Given the description of an element on the screen output the (x, y) to click on. 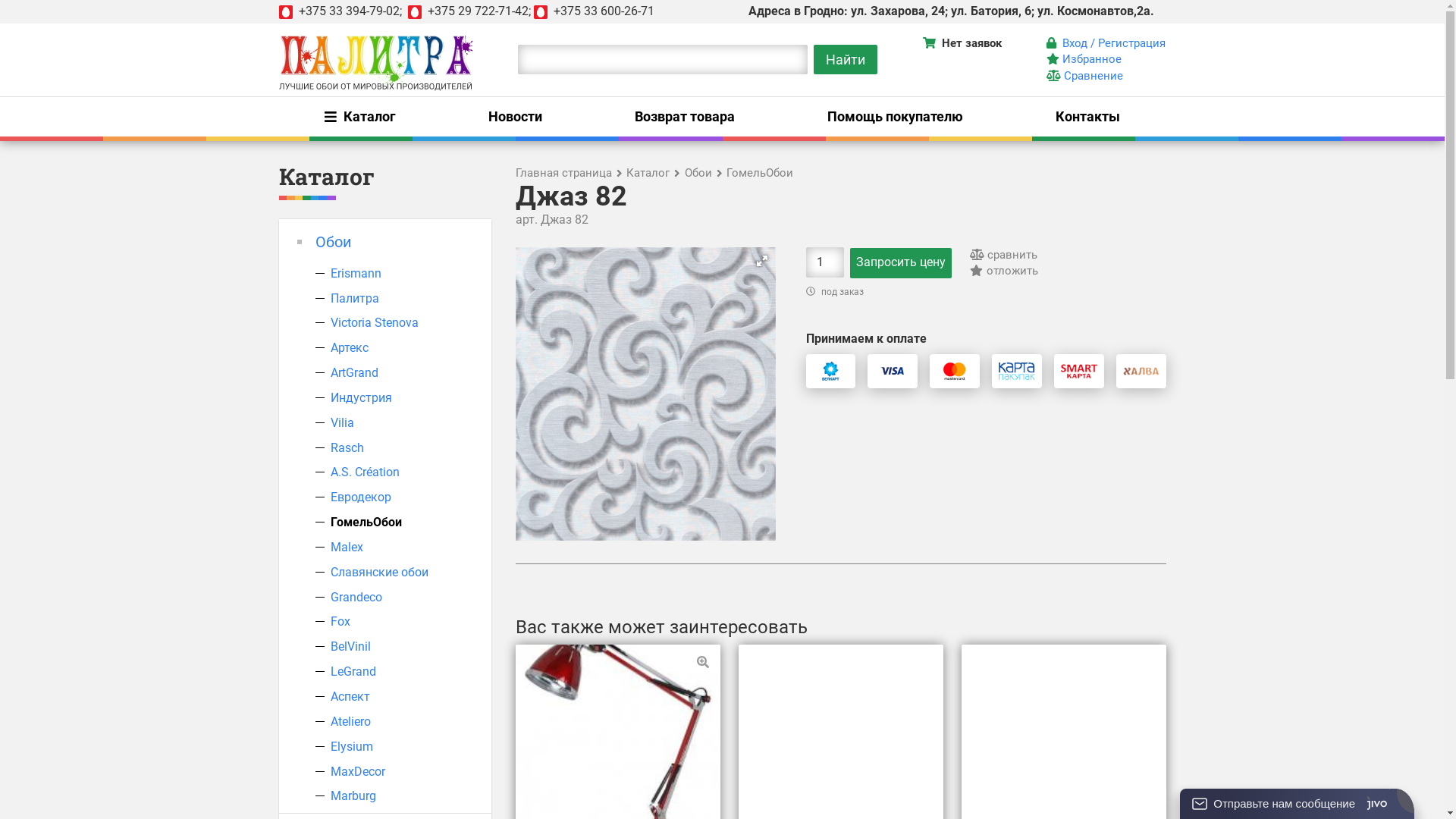
Vilia Element type: text (342, 422)
Elysium Element type: text (351, 746)
MaxDecor Element type: text (357, 771)
Erismann Element type: text (355, 273)
Rasch Element type: text (347, 447)
Fox Element type: text (340, 621)
BelVinil Element type: text (350, 646)
Grandeco Element type: text (356, 596)
Malex Element type: text (346, 546)
Victoria Stenova Element type: text (374, 322)
ArtGrand Element type: text (354, 372)
Marburg Element type: text (353, 795)
LeGrand Element type: text (353, 671)
Ateliero Element type: text (350, 721)
